Given the description of an element on the screen output the (x, y) to click on. 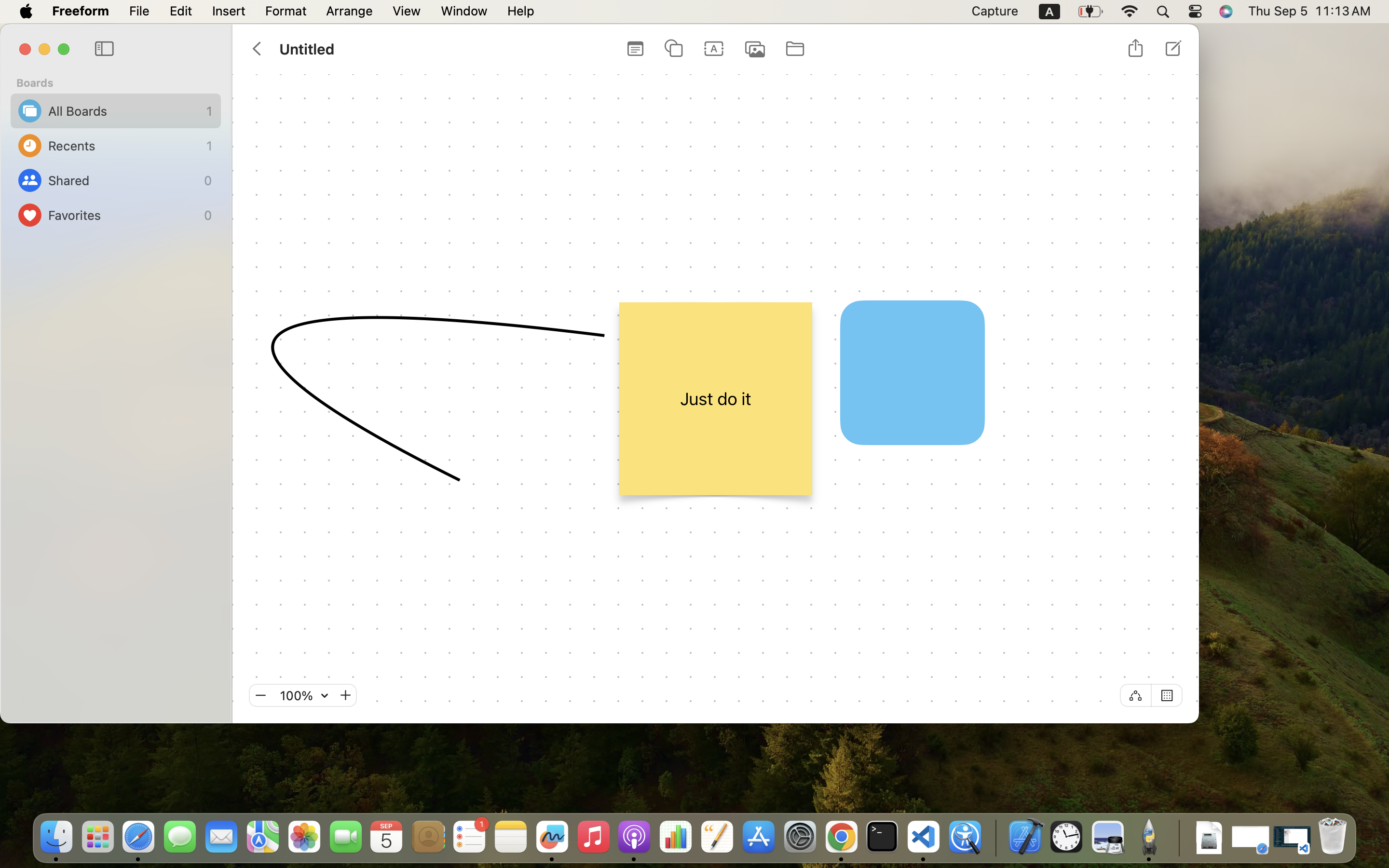
All Boards Element type: AXStaticText (124, 110)
Boards Element type: AXStaticText (121, 82)
Untitled Element type: AXStaticText (305, 48)
